Given the description of an element on the screen output the (x, y) to click on. 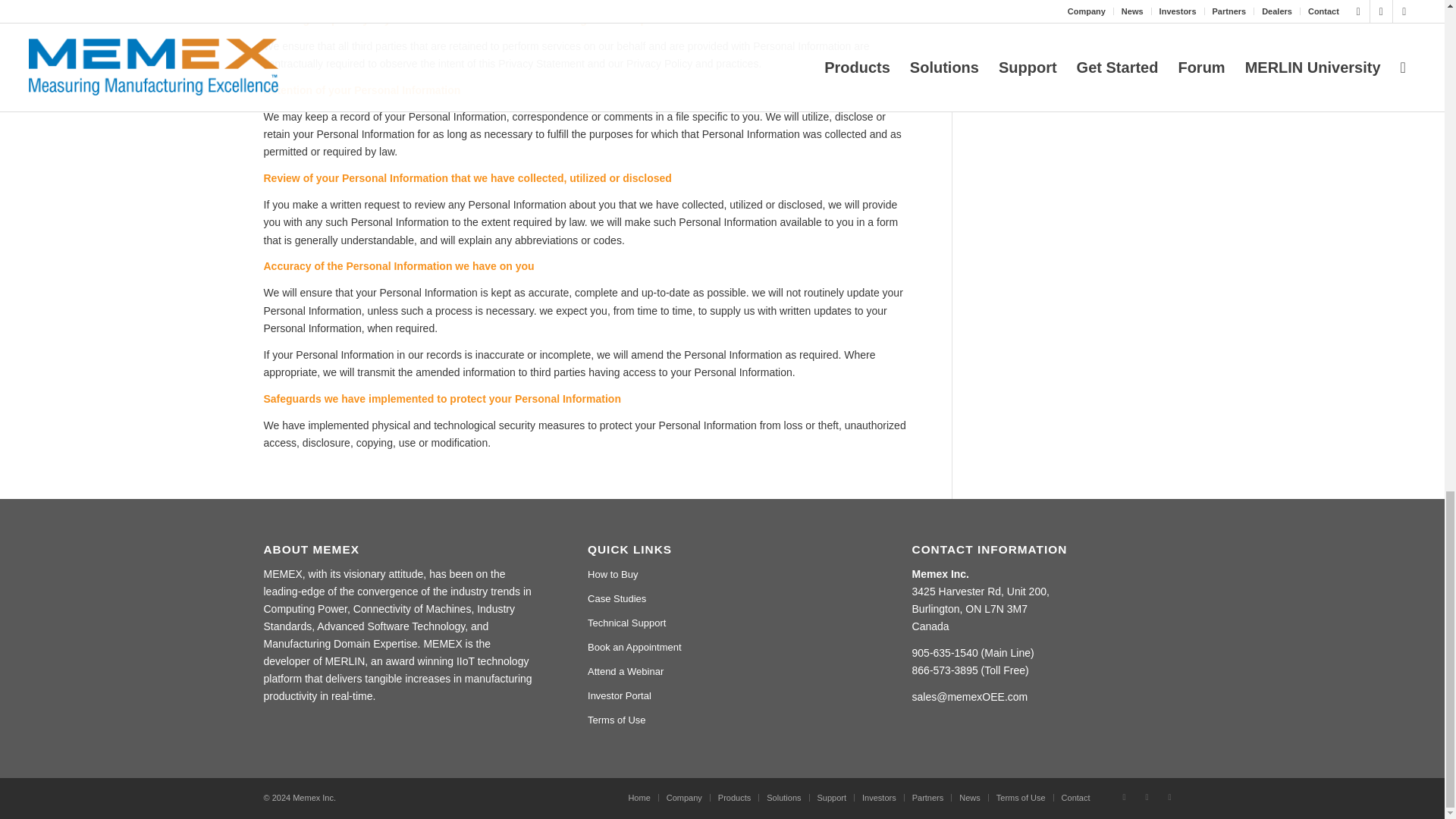
LinkedIn (1146, 796)
Youtube (1169, 796)
X (1124, 796)
